Given the description of an element on the screen output the (x, y) to click on. 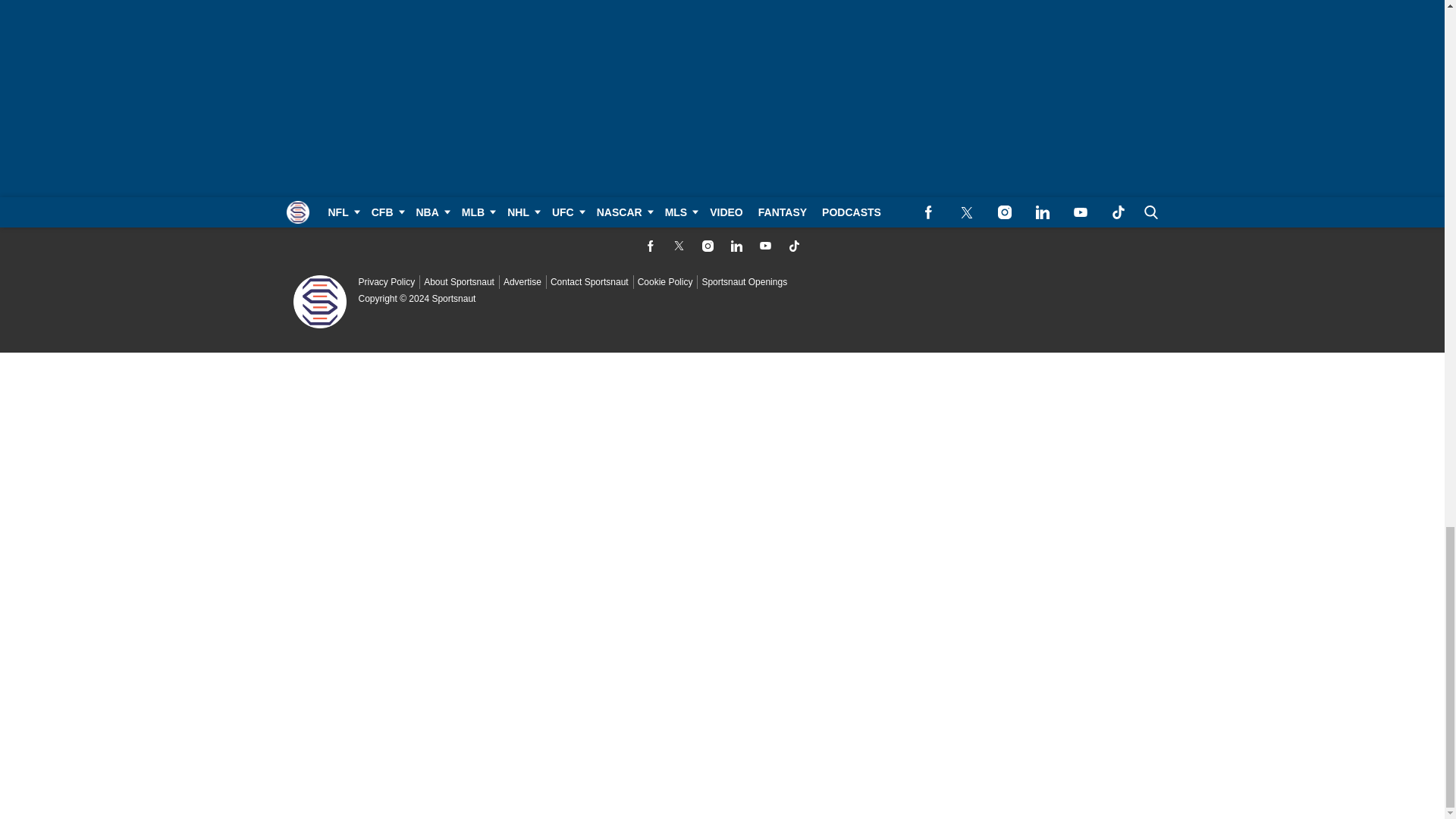
Follow us on Twitter (678, 245)
Subscribe to our YouTube channel (765, 245)
Follow us on Facebook (650, 245)
Follow us on Instagram (707, 245)
Connect with us on TikTok (794, 245)
Connect with us on LinkedIn (736, 245)
